Given the description of an element on the screen output the (x, y) to click on. 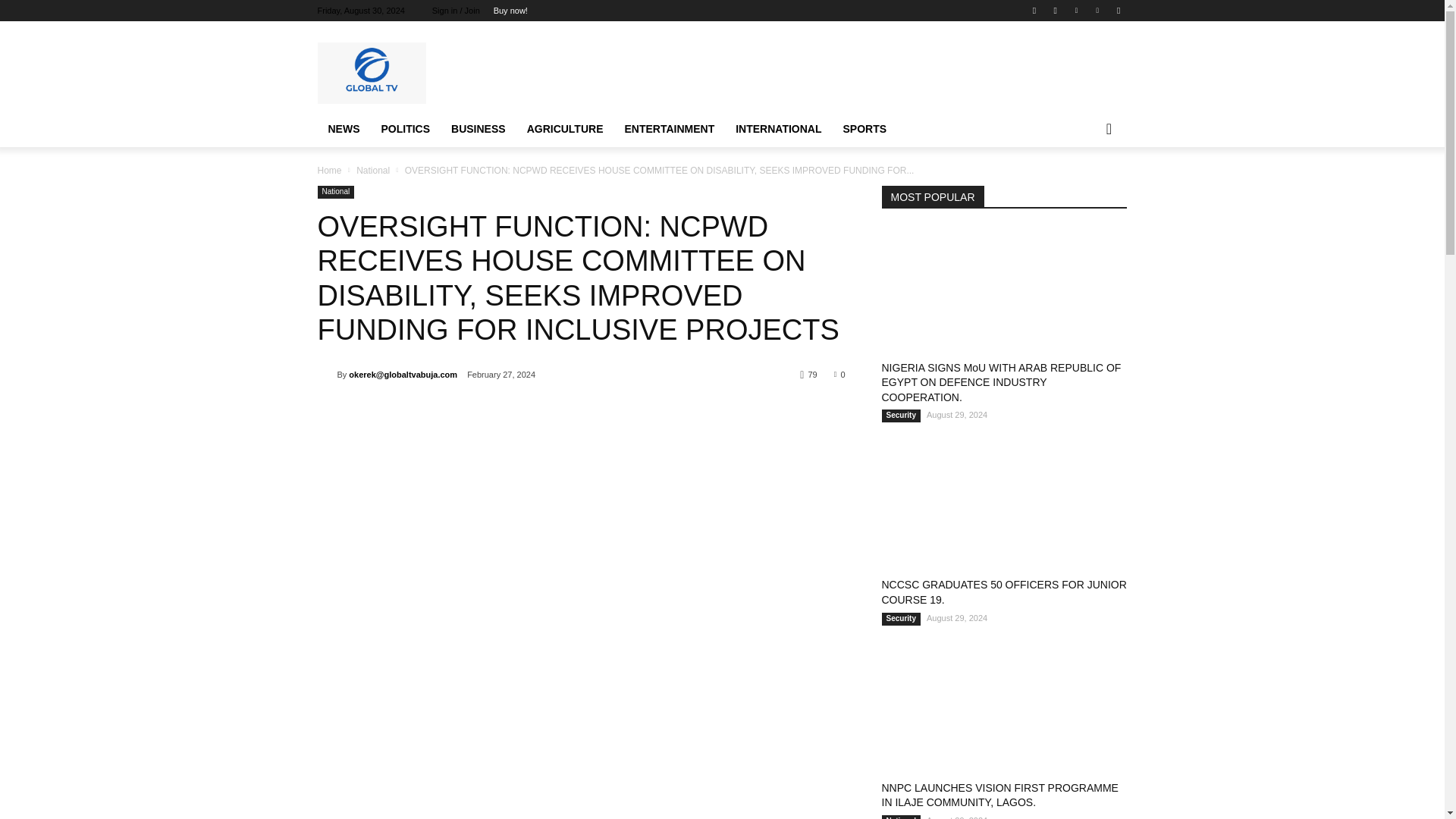
POLITICS (405, 128)
BUSINESS (478, 128)
AGRICULTURE (565, 128)
Buy now! (510, 10)
View all posts in National (373, 170)
NEWS (343, 128)
